Given the description of an element on the screen output the (x, y) to click on. 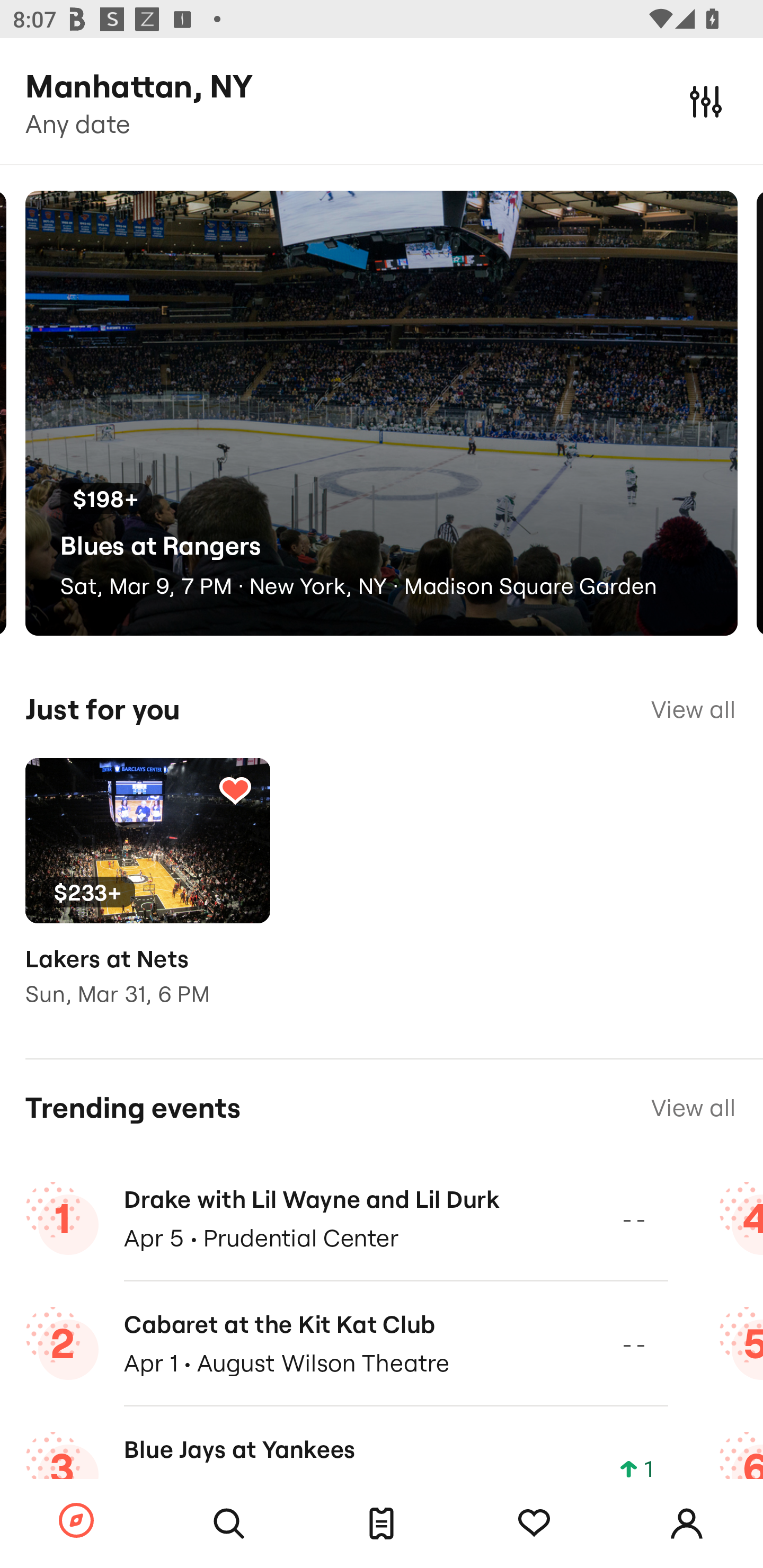
Filters (705, 100)
View all (693, 709)
Tracking $233+ Lakers at Nets Sun, Mar 31, 6 PM (147, 895)
Tracking (234, 790)
View all (693, 1108)
Browse (76, 1521)
Search (228, 1523)
Tickets (381, 1523)
Tracking (533, 1523)
Account (686, 1523)
